Given the description of an element on the screen output the (x, y) to click on. 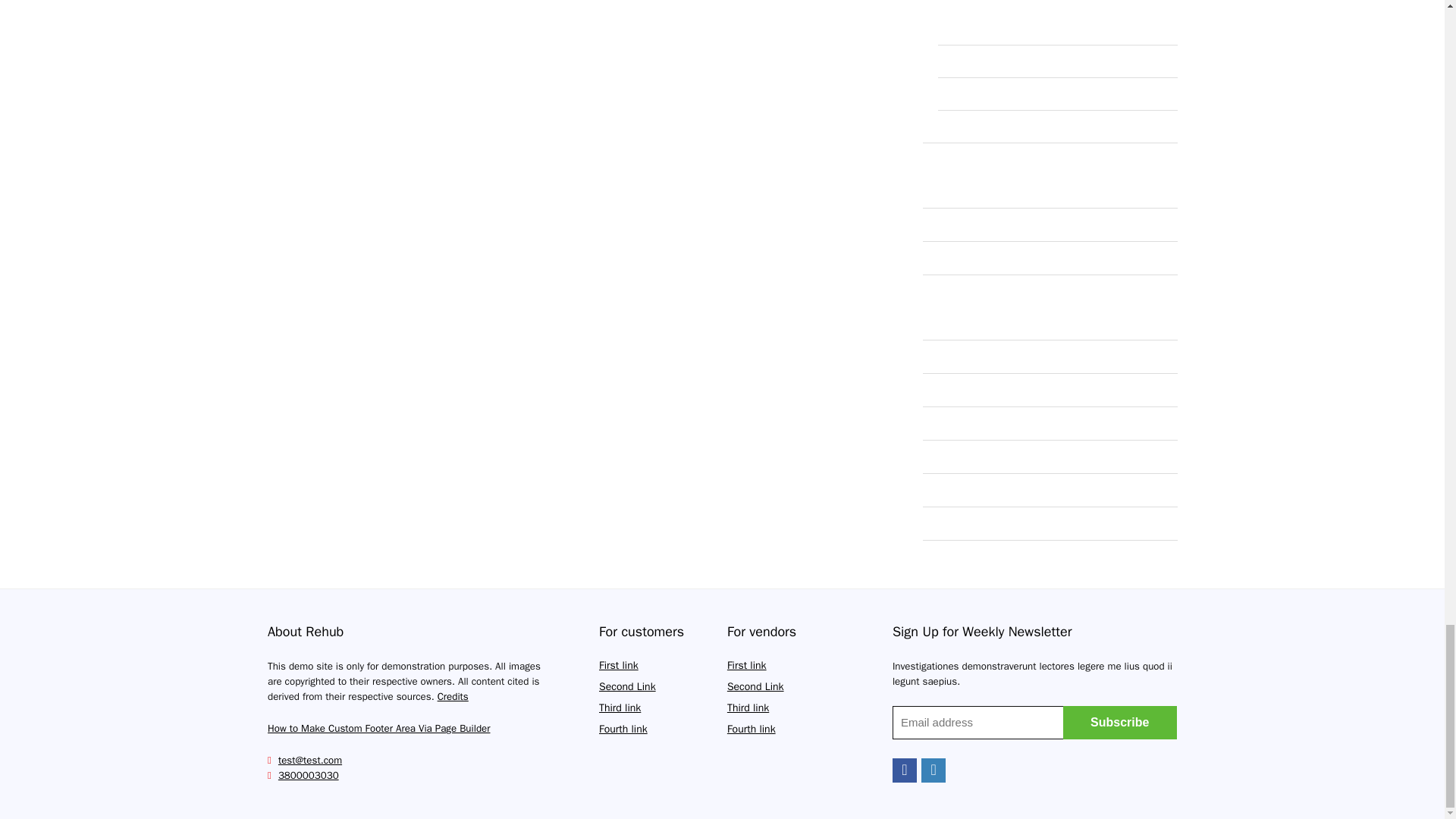
Subscribe (1119, 722)
